Given the description of an element on the screen output the (x, y) to click on. 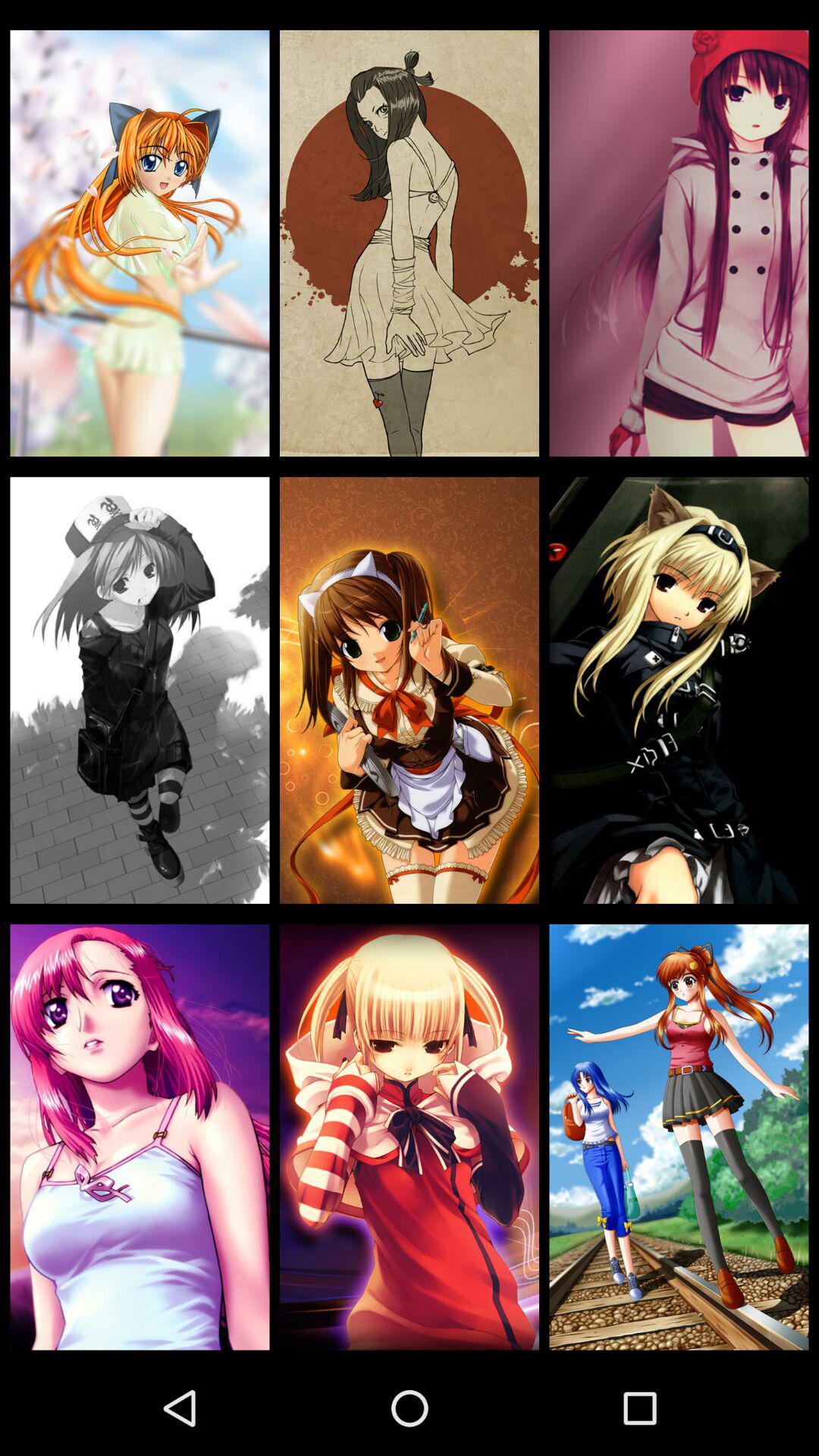
turn on the icon on the left (139, 690)
